Given the description of an element on the screen output the (x, y) to click on. 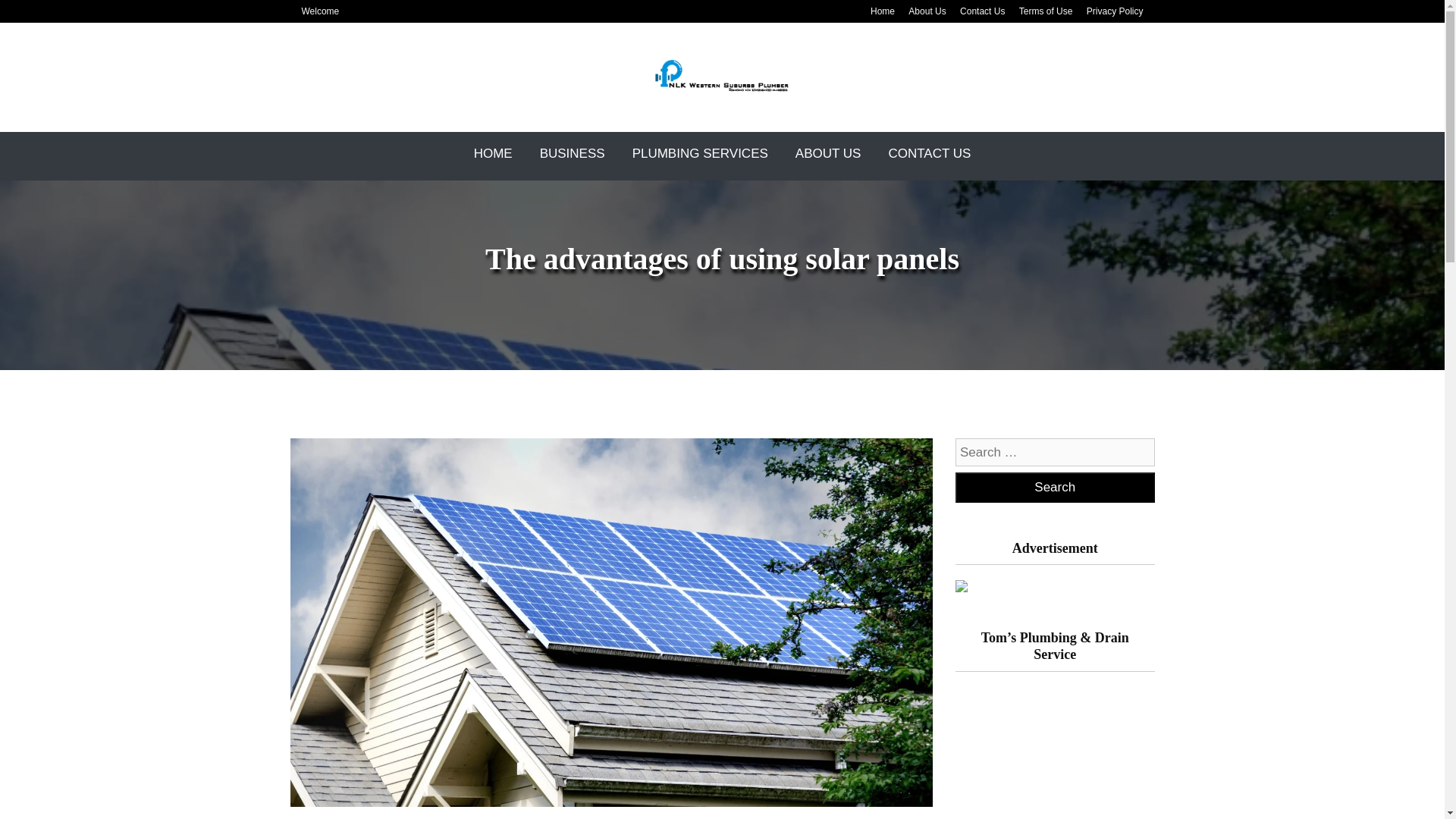
CONTACT US (929, 153)
Contact Us (981, 10)
PLUMBING SERVICES (700, 153)
BUSINESS (572, 153)
About Us (926, 10)
ABOUT US (828, 153)
Contact Us (929, 153)
HOME (492, 153)
Search (1054, 487)
Terms of Use (1046, 10)
Search (1054, 487)
Home (882, 10)
About Us (828, 153)
Home (492, 153)
Search (1054, 487)
